Given the description of an element on the screen output the (x, y) to click on. 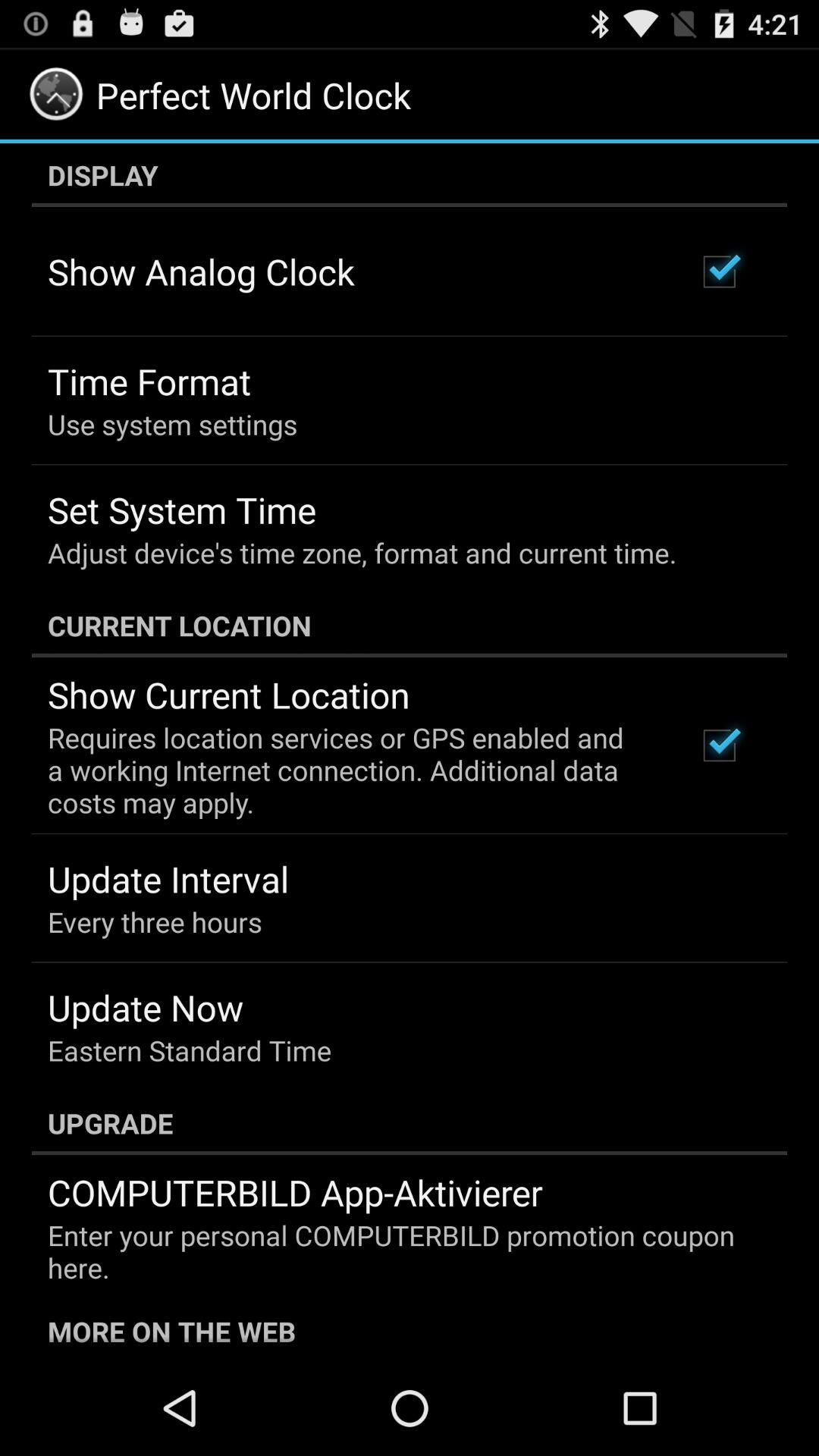
click the app below update interval icon (154, 921)
